Given the description of an element on the screen output the (x, y) to click on. 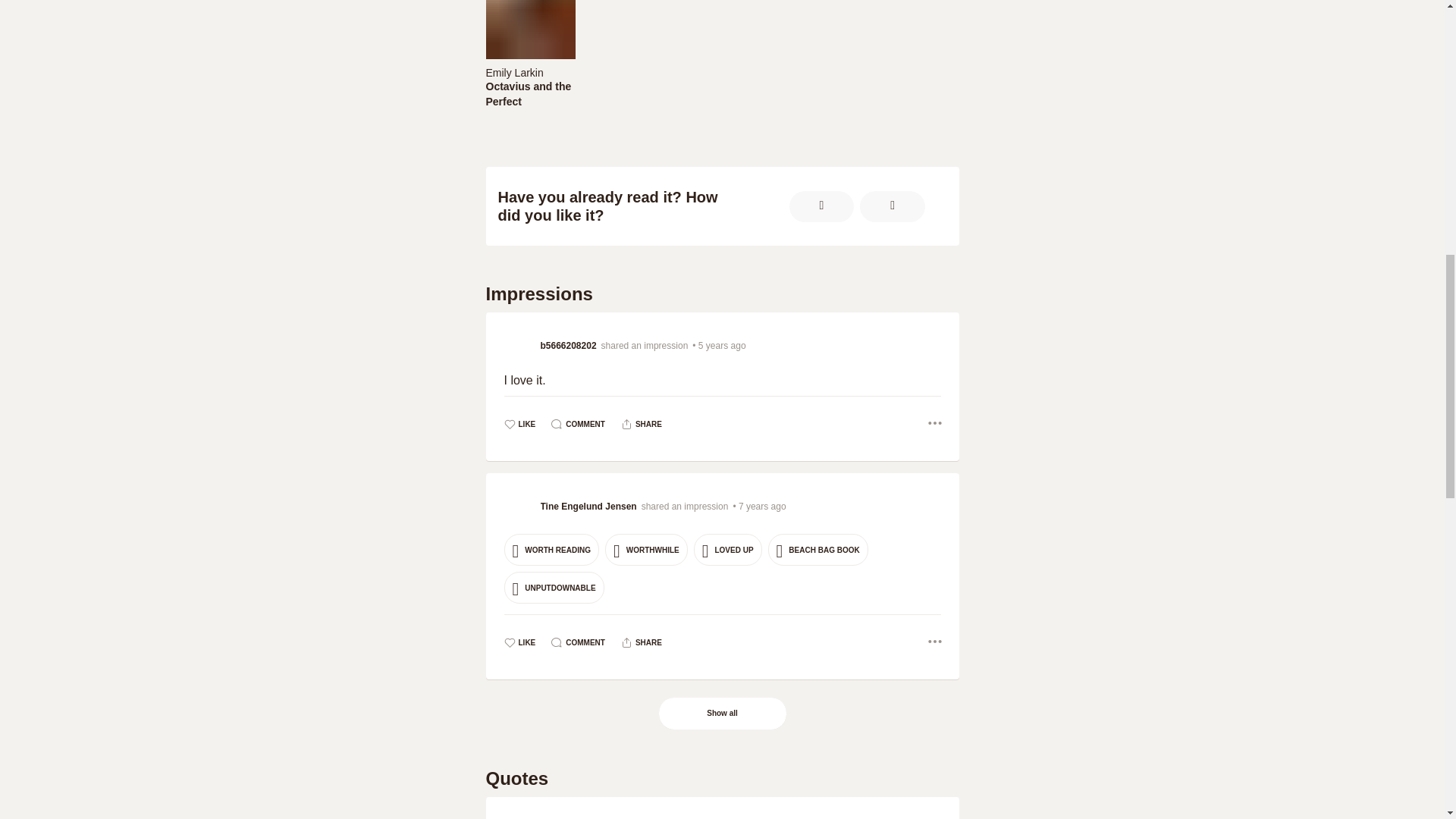
Show all (722, 713)
Show all (722, 713)
Emily Larkin (513, 72)
Emily Larkin (721, 58)
Octavius and the Perfect Governess (528, 71)
Octavius and the Perfect Governess (528, 101)
Octavius and the Perfect Governess (528, 93)
